Given the description of an element on the screen output the (x, y) to click on. 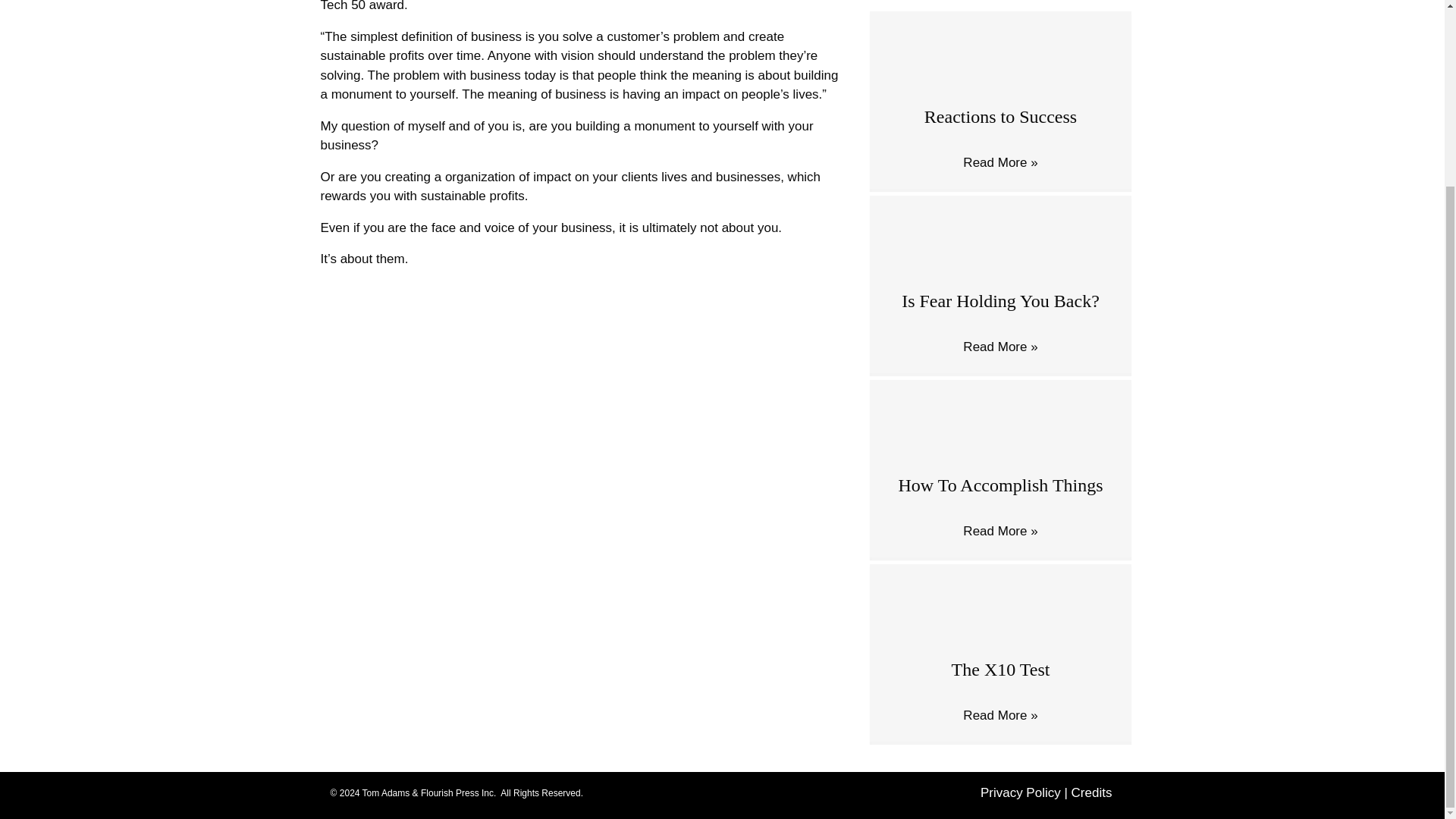
The X10 Test (1000, 669)
Reactions to Success (1000, 116)
Reactions to Success (1000, 59)
The X10 Test (1000, 612)
Is Fear Holding You Back? (1000, 301)
Is Fear Holding You Back? (1000, 243)
How To Accomplish Things (1000, 427)
How To Accomplish Things (1000, 485)
